Given the description of an element on the screen output the (x, y) to click on. 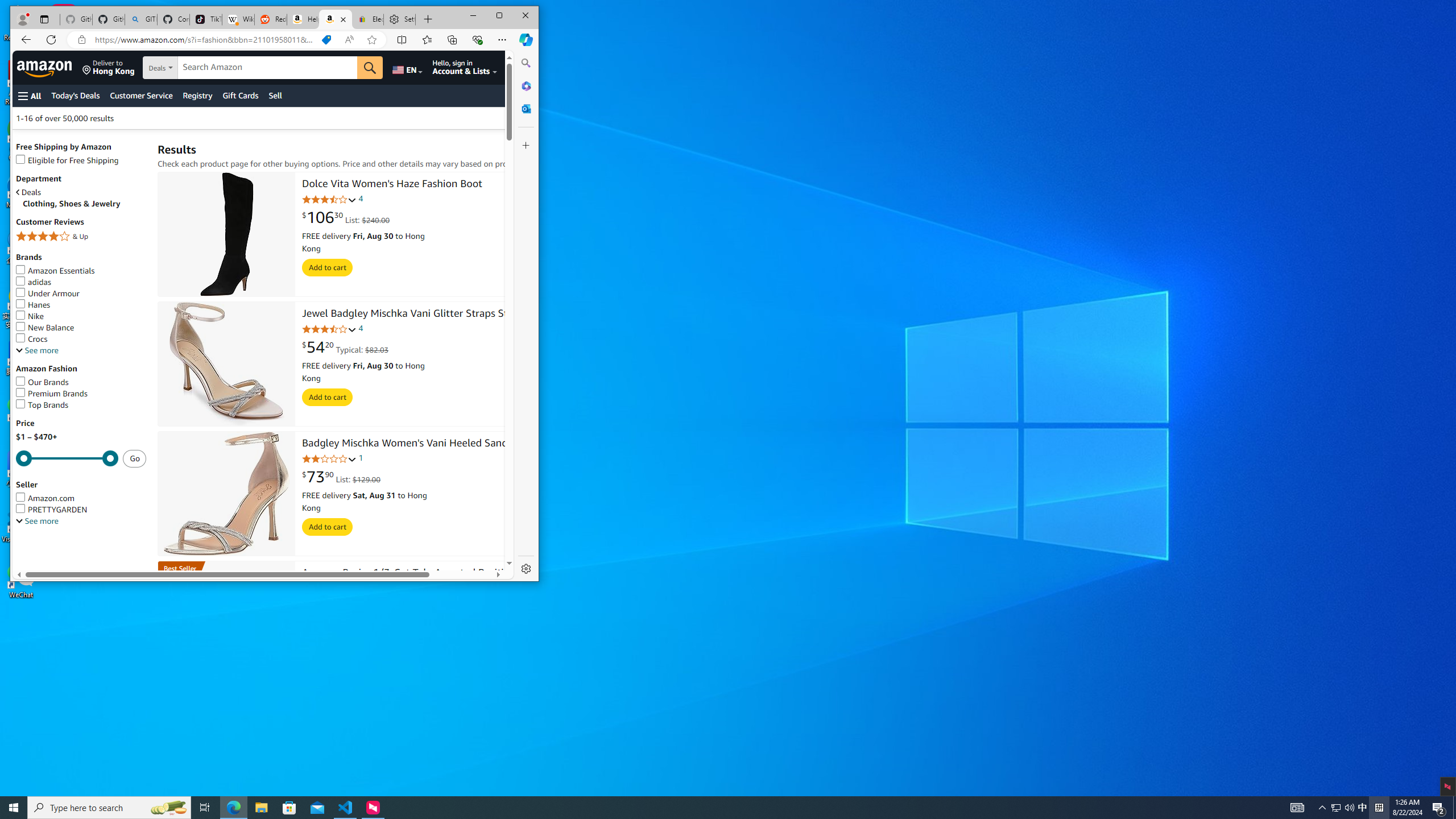
adidas (80, 282)
2.0 out of 5 stars (328, 458)
PRETTYGARDEN (51, 509)
Premium Brands (51, 393)
Gift Cards (239, 95)
Search highlights icon opens search home window (167, 807)
Under Armour (48, 292)
3.6 out of 5 stars (328, 329)
See more, Brands (37, 350)
Clothing, Shoes & Jewelry (84, 203)
